Given the description of an element on the screen output the (x, y) to click on. 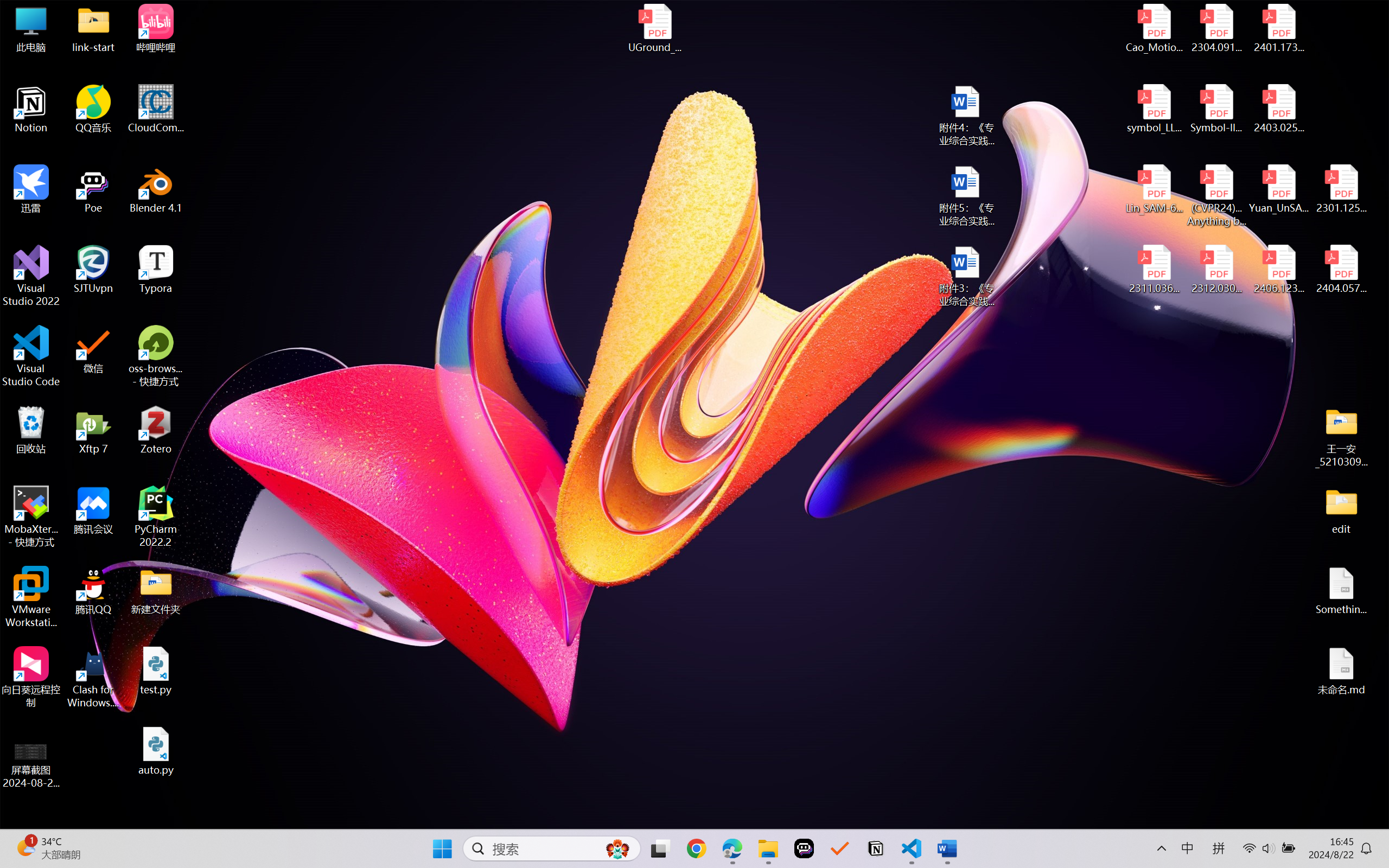
2312.03032v2.pdf (1216, 269)
Visual Studio 2022 (31, 276)
CloudCompare (156, 109)
VMware Workstation Pro (31, 597)
Xftp 7 (93, 430)
